Given the description of an element on the screen output the (x, y) to click on. 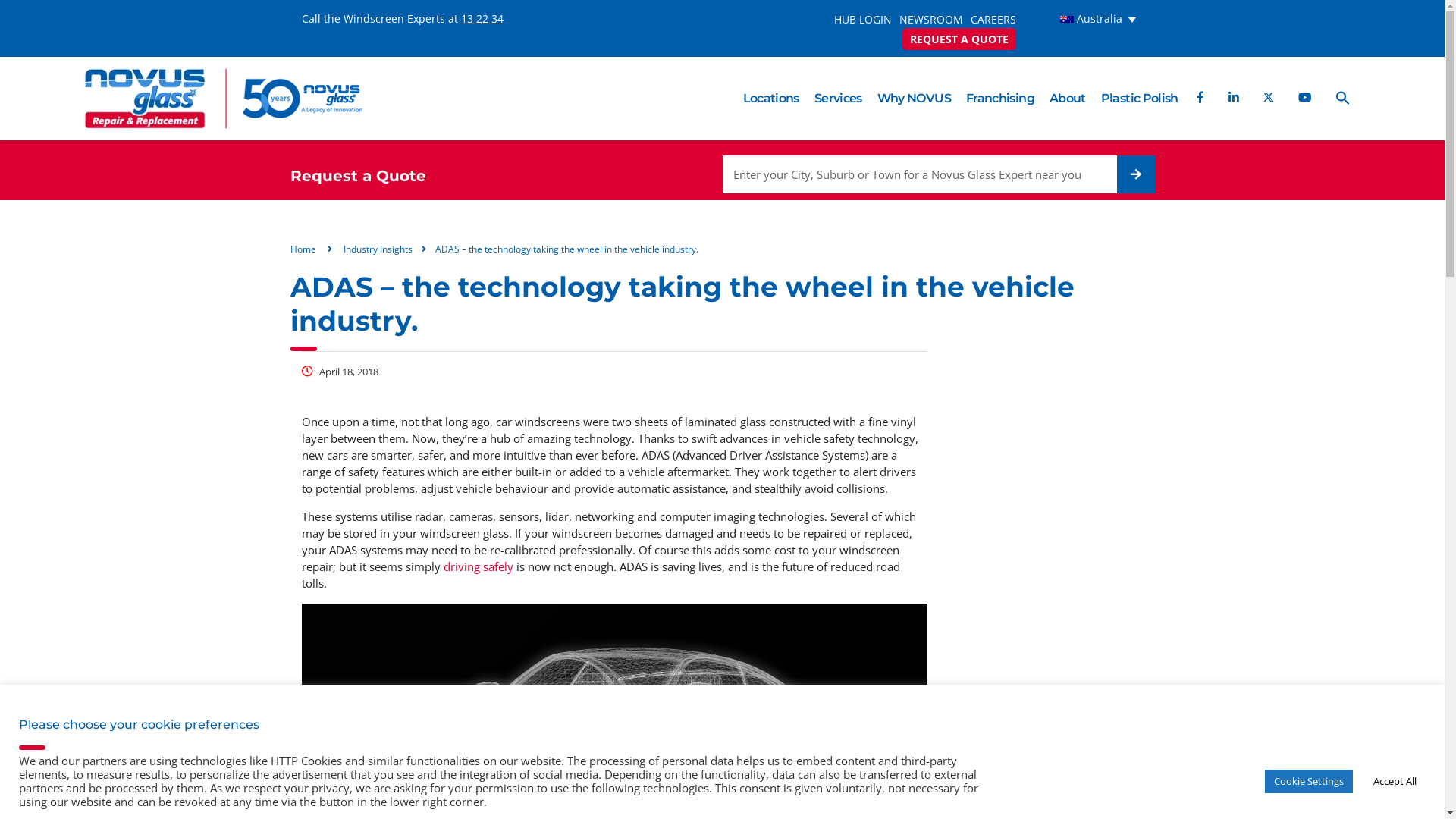
Locations Element type: text (770, 98)
Cookie Settings Element type: text (1308, 780)
CAREERS Element type: text (993, 19)
Plastic Polish Element type: text (1139, 98)
Services Element type: text (837, 98)
REQUEST A QUOTE Element type: text (959, 39)
Home Element type: text (302, 248)
Why NOVUS Element type: text (913, 98)
About Element type: text (1067, 98)
Open toolbar
Accessibility Tools Element type: text (19, 761)
Accept All Element type: text (1394, 780)
driving safely Element type: text (477, 566)
NEWSROOM Element type: text (931, 19)
HUB LOGIN Element type: text (862, 19)
13 22 34 Element type: text (482, 18)
Industry Insights Element type: text (376, 248)
Australia Element type: text (1088, 19)
Franchising Element type: text (999, 98)
